Given the description of an element on the screen output the (x, y) to click on. 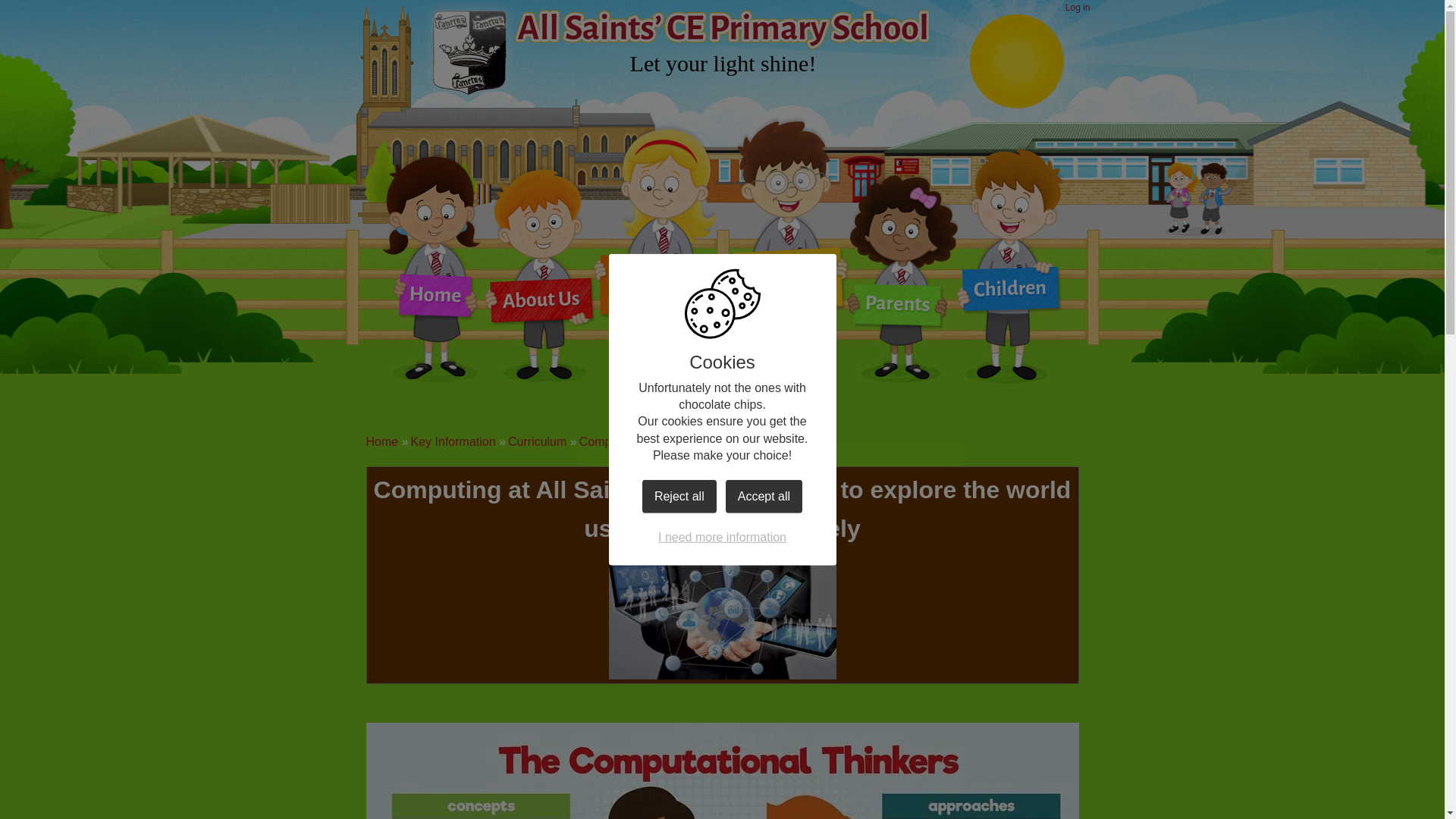
About Us (537, 288)
Home Page (469, 50)
Home (381, 440)
Key Information (661, 288)
Home Page (469, 50)
Log in (1077, 8)
Computing (608, 440)
Curriculum (537, 440)
Home (435, 288)
Key Information (453, 440)
